Given the description of an element on the screen output the (x, y) to click on. 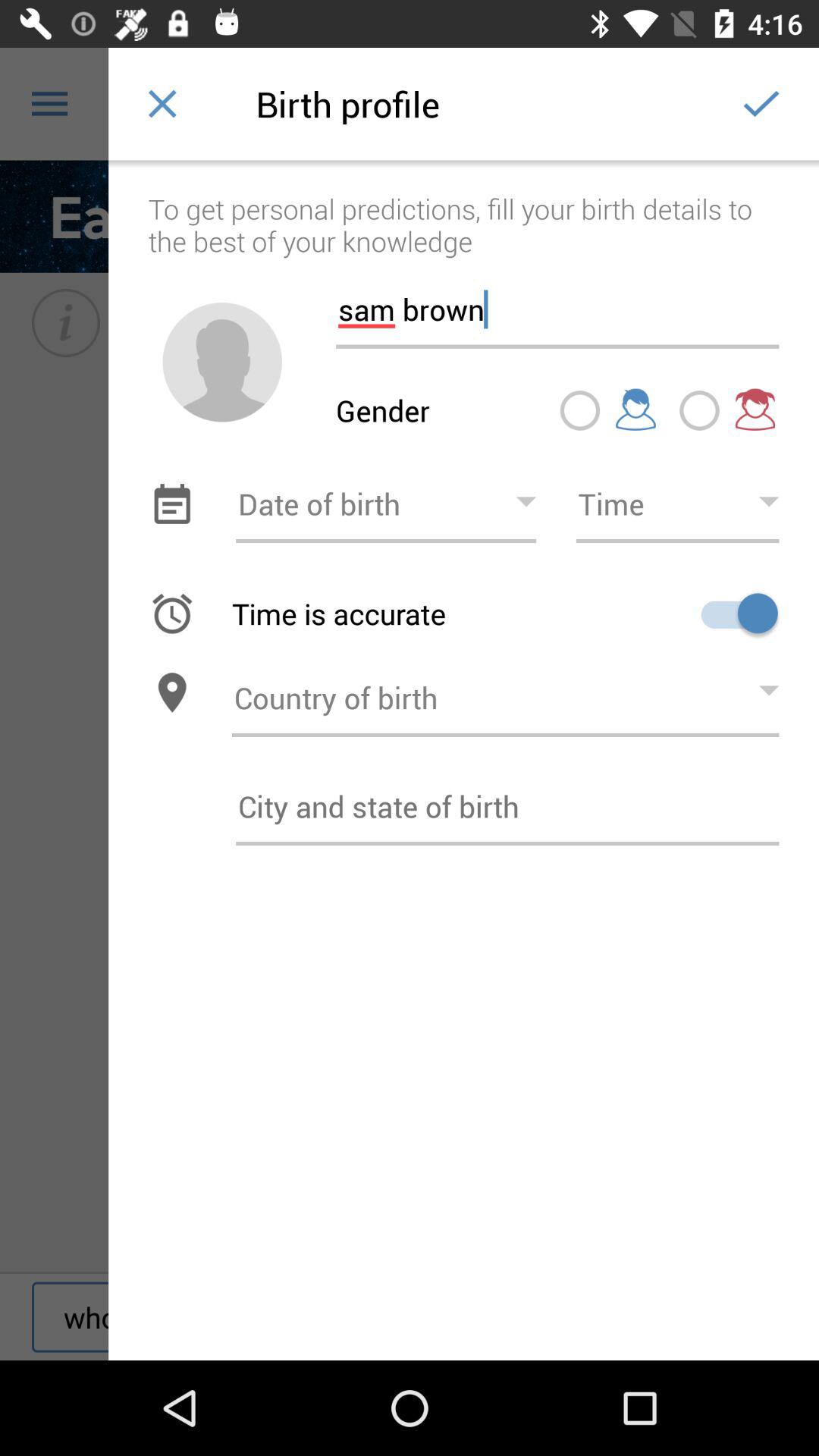
toggle accurate time button (734, 613)
